Given the description of an element on the screen output the (x, y) to click on. 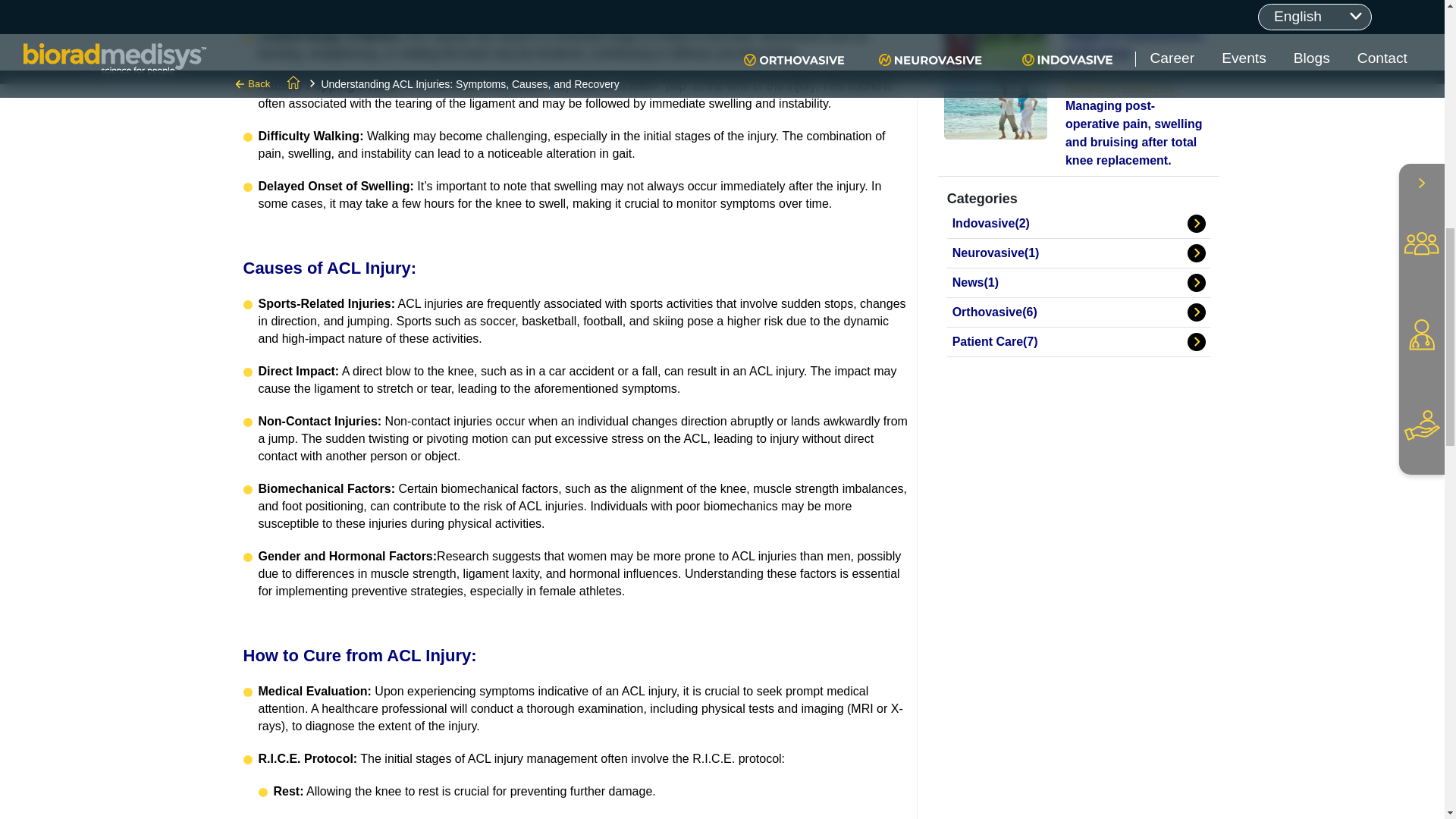
Stages of Osteoarthritis of the Knee (1133, 43)
